Given the description of an element on the screen output the (x, y) to click on. 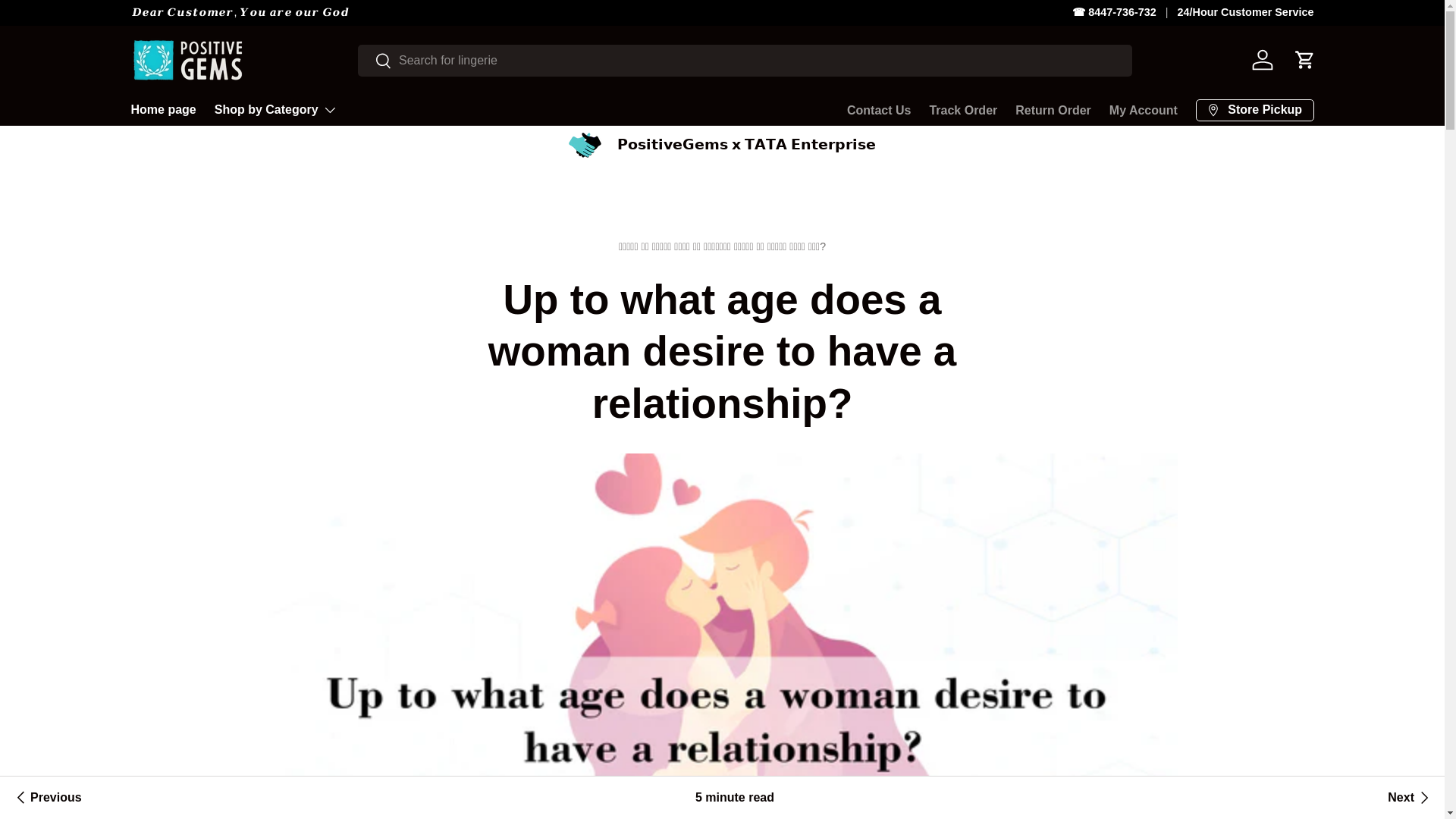
Store Pickup (1254, 110)
How many times should you have sex in a day? - Positive Gems (1409, 797)
Previous (46, 797)
Cart (1303, 59)
Log in (1261, 59)
Next (1409, 797)
Home page (163, 109)
Shop by Category (275, 110)
Return Order (1052, 110)
